Given the description of an element on the screen output the (x, y) to click on. 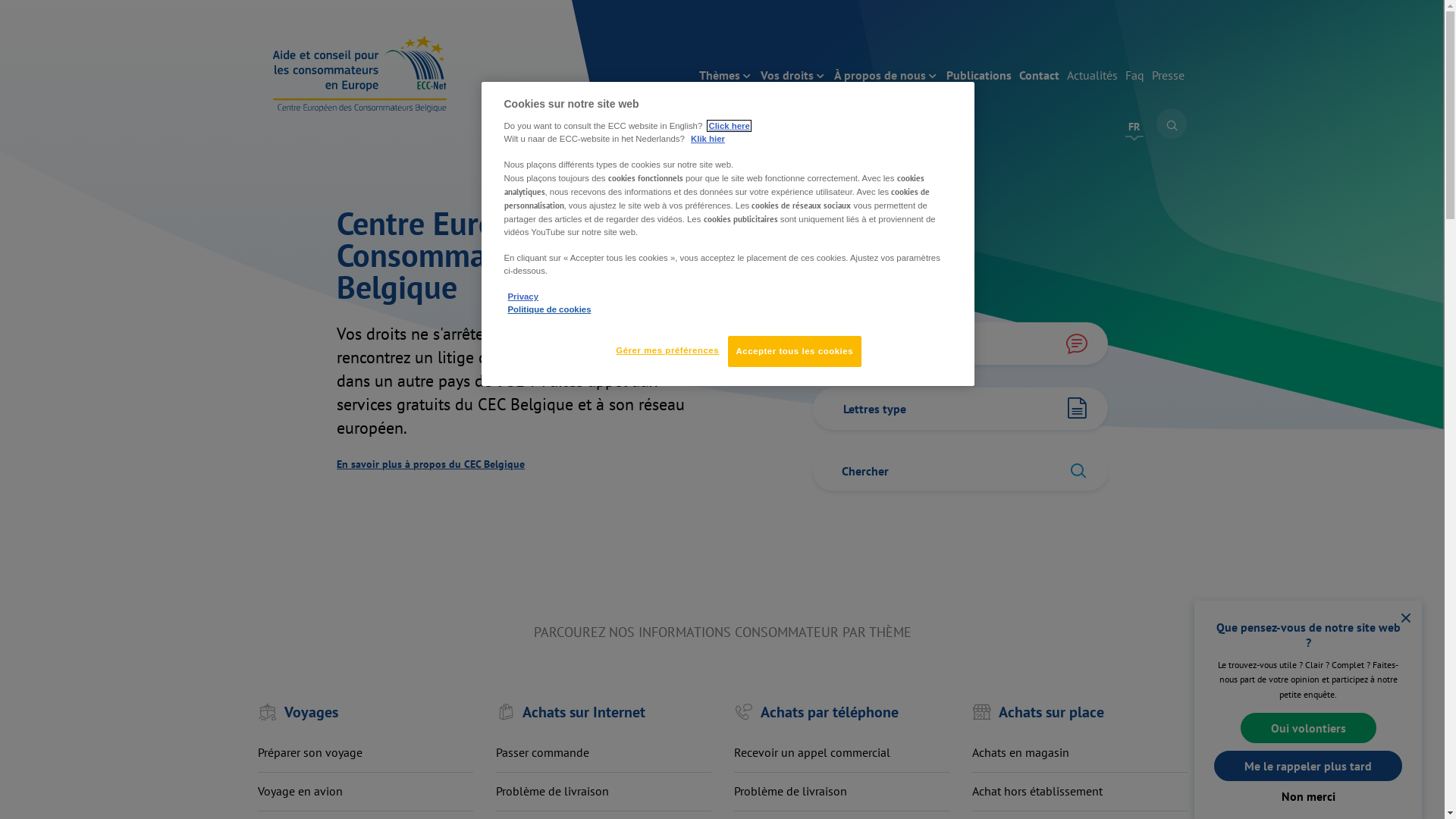
Publications Element type: text (978, 75)
Achats en magasin Element type: text (1020, 751)
Passer commande Element type: text (542, 751)
Presse Element type: text (1167, 75)
Lettres type Element type: text (959, 408)
Politique de cookies Element type: text (549, 308)
Oui volontiers Element type: text (1308, 727)
Klik hier Element type: text (707, 138)
Voyage en avion Element type: text (299, 790)
Faq Element type: text (1134, 75)
J'ai une plainte Element type: text (959, 343)
Recevoir un appel commercial Element type: text (812, 751)
Privacy Element type: text (523, 296)
Chercher Element type: text (1171, 123)
Accepter tous les cookies Element type: text (795, 351)
Achats sur Internet Element type: text (603, 701)
Vos droits Element type: text (793, 75)
Close Element type: text (1405, 618)
Achats sur place Element type: text (1079, 701)
Click here Element type: text (728, 125)
FR Element type: text (1133, 126)
Contact Element type: text (1038, 75)
Voyages Element type: text (365, 701)
